Given the description of an element on the screen output the (x, y) to click on. 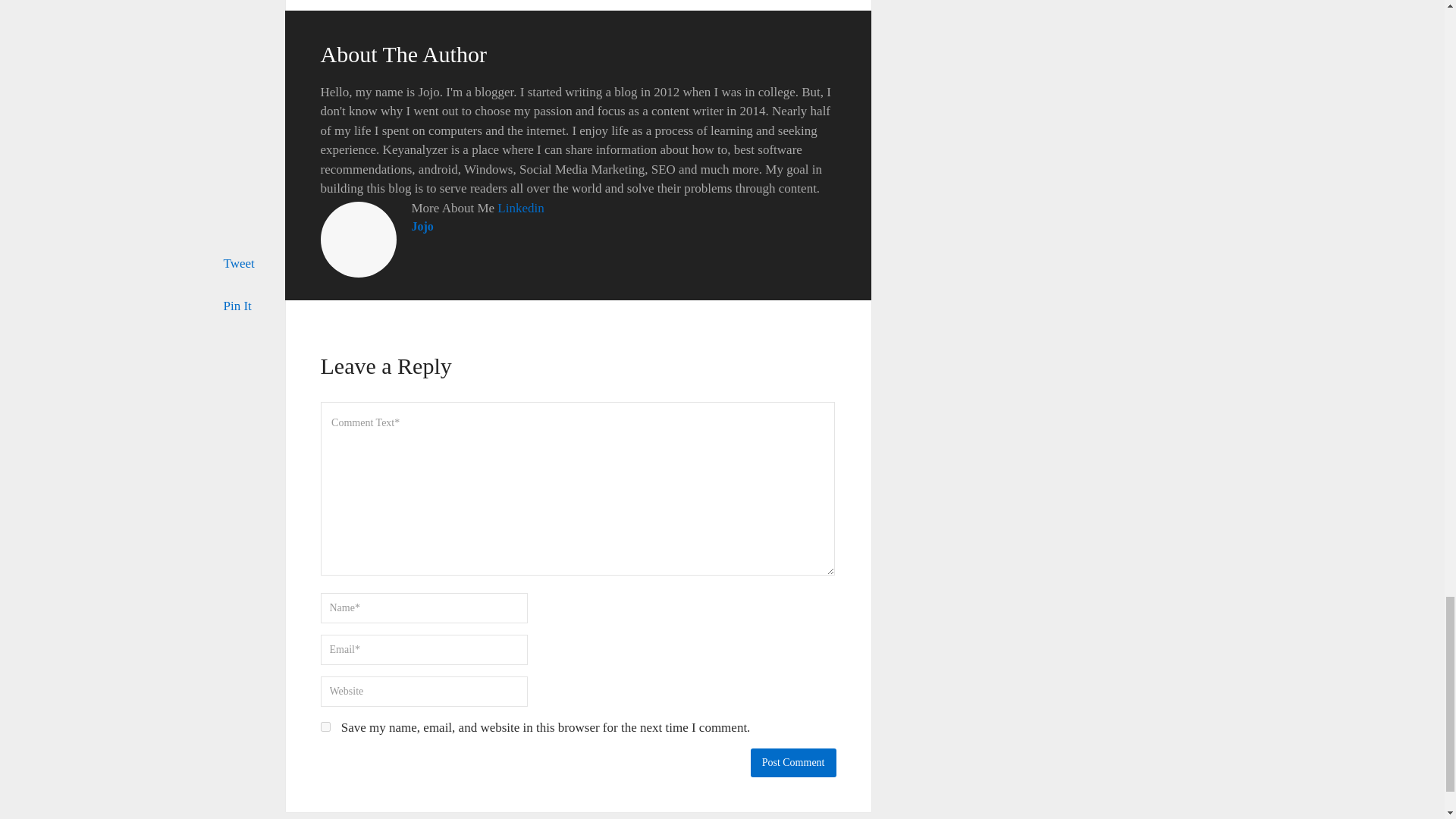
Jojo (421, 226)
Post Comment (793, 762)
Linkedin (520, 207)
Post Comment (793, 762)
yes (325, 726)
